Given the description of an element on the screen output the (x, y) to click on. 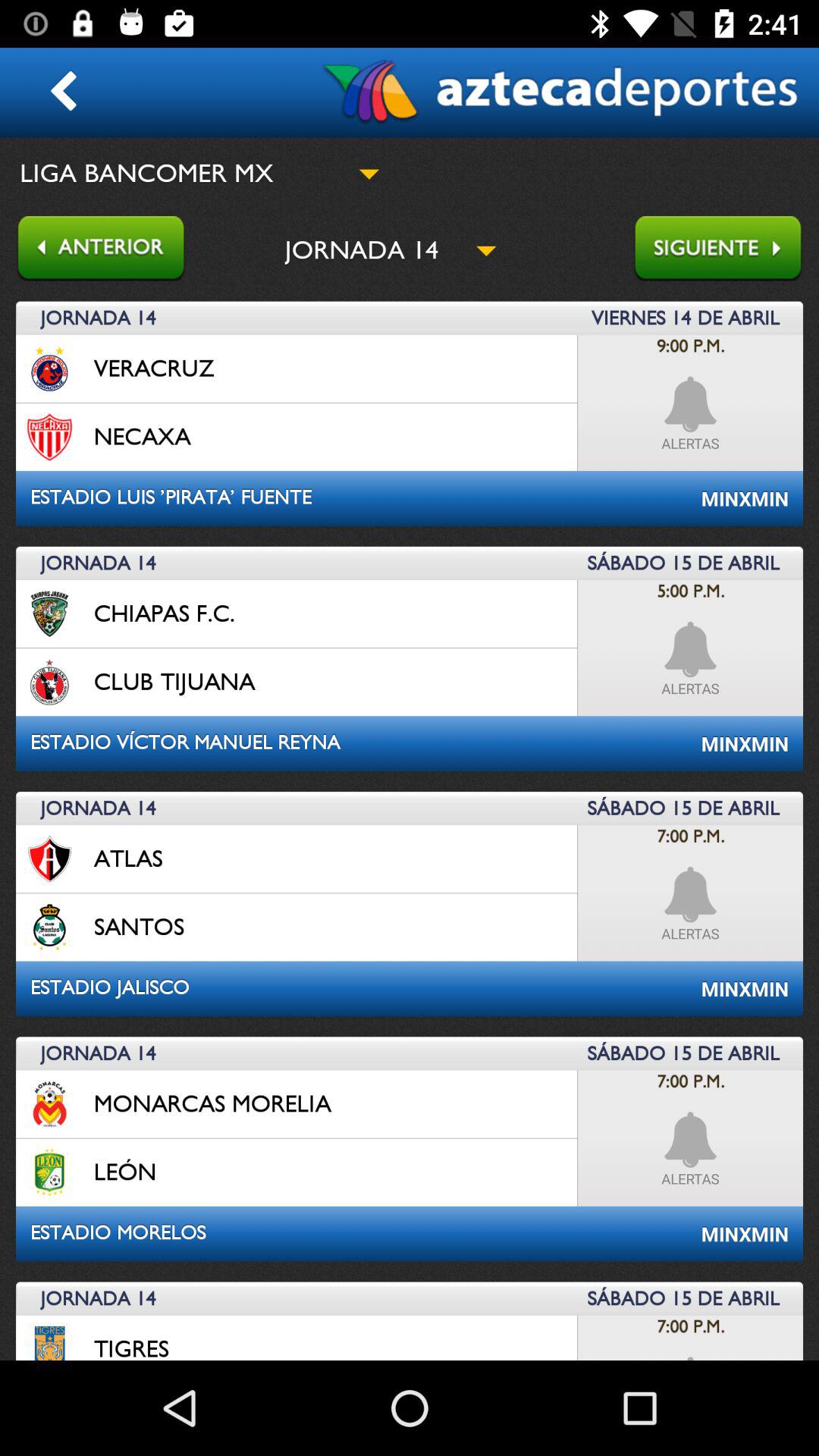
siguiente button (726, 249)
